Given the description of an element on the screen output the (x, y) to click on. 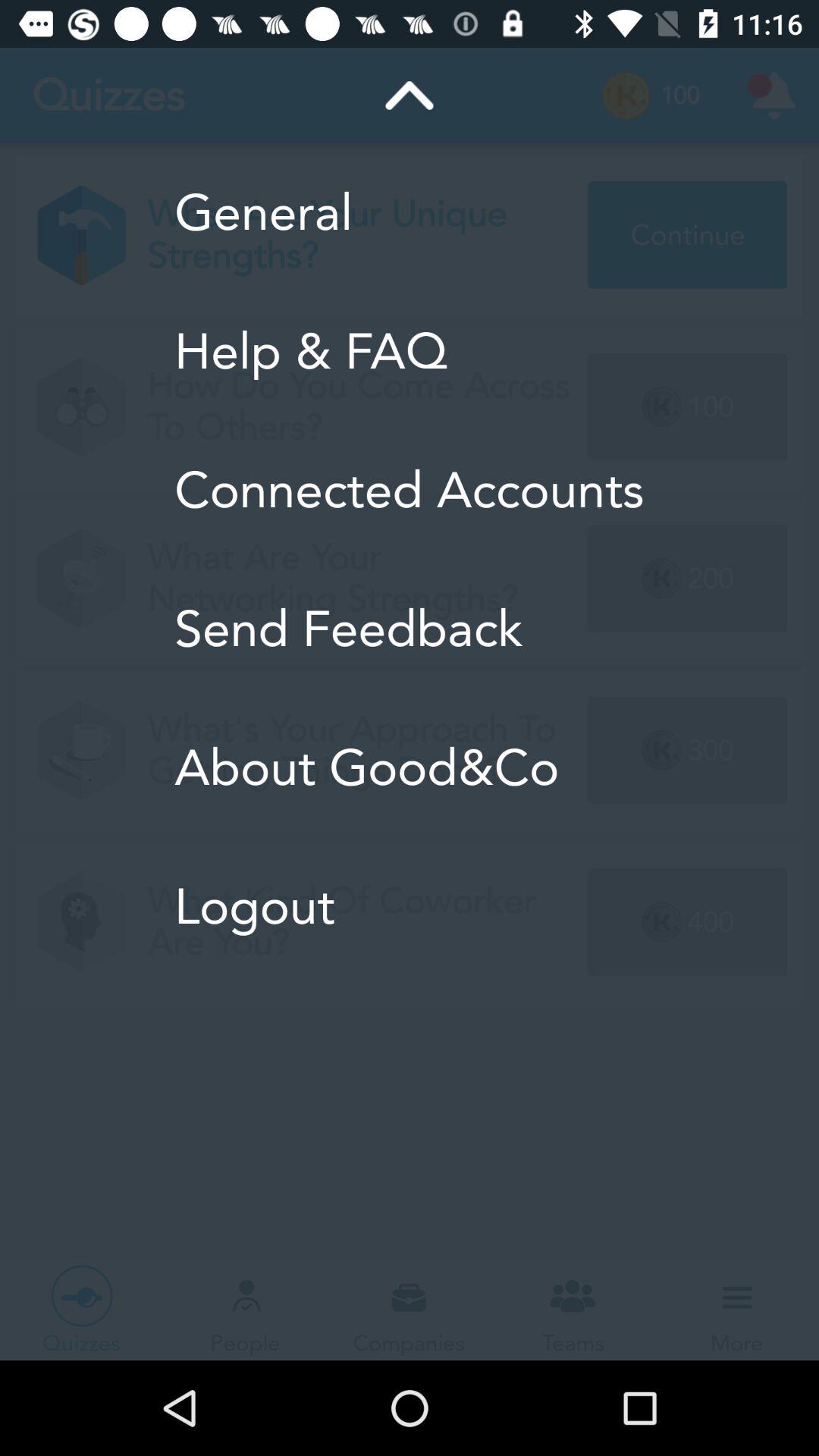
jump to general (408, 212)
